Given the description of an element on the screen output the (x, y) to click on. 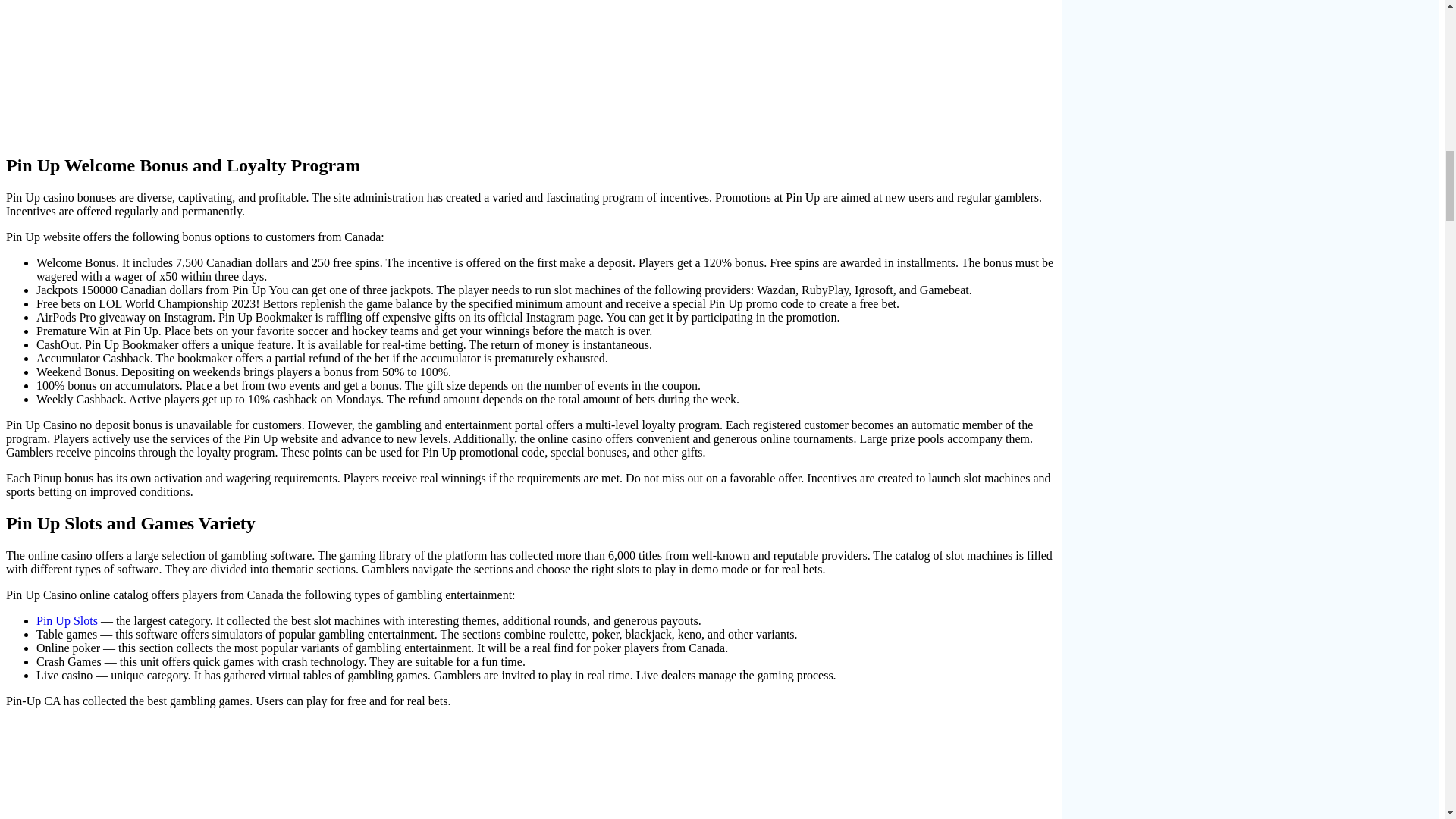
Pin Up Slots (66, 620)
Pin Up Bet (338, 769)
PinUp (338, 68)
